Given the description of an element on the screen output the (x, y) to click on. 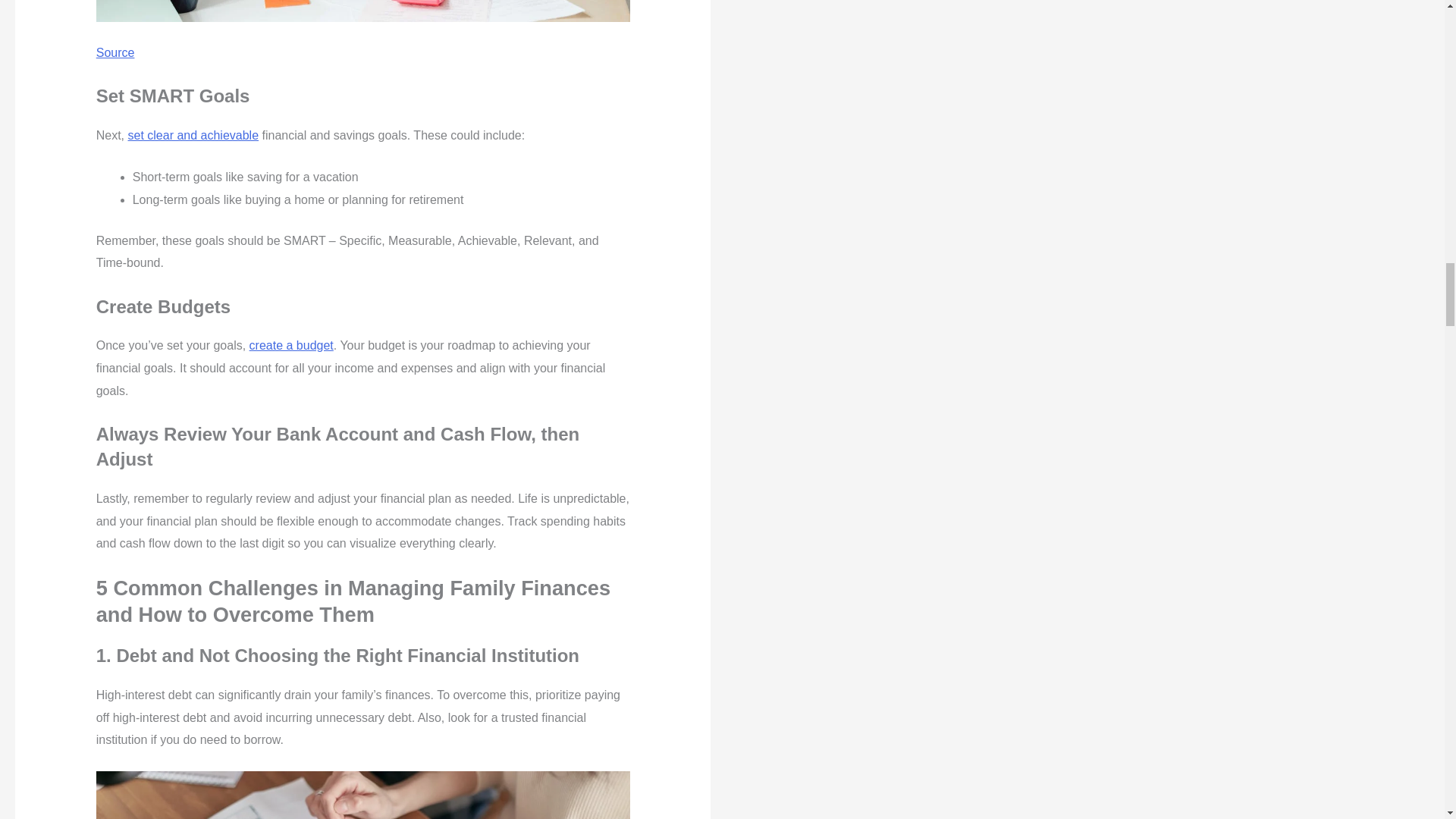
set clear and achievable (193, 134)
create a budget (290, 345)
Source (115, 51)
